Given the description of an element on the screen output the (x, y) to click on. 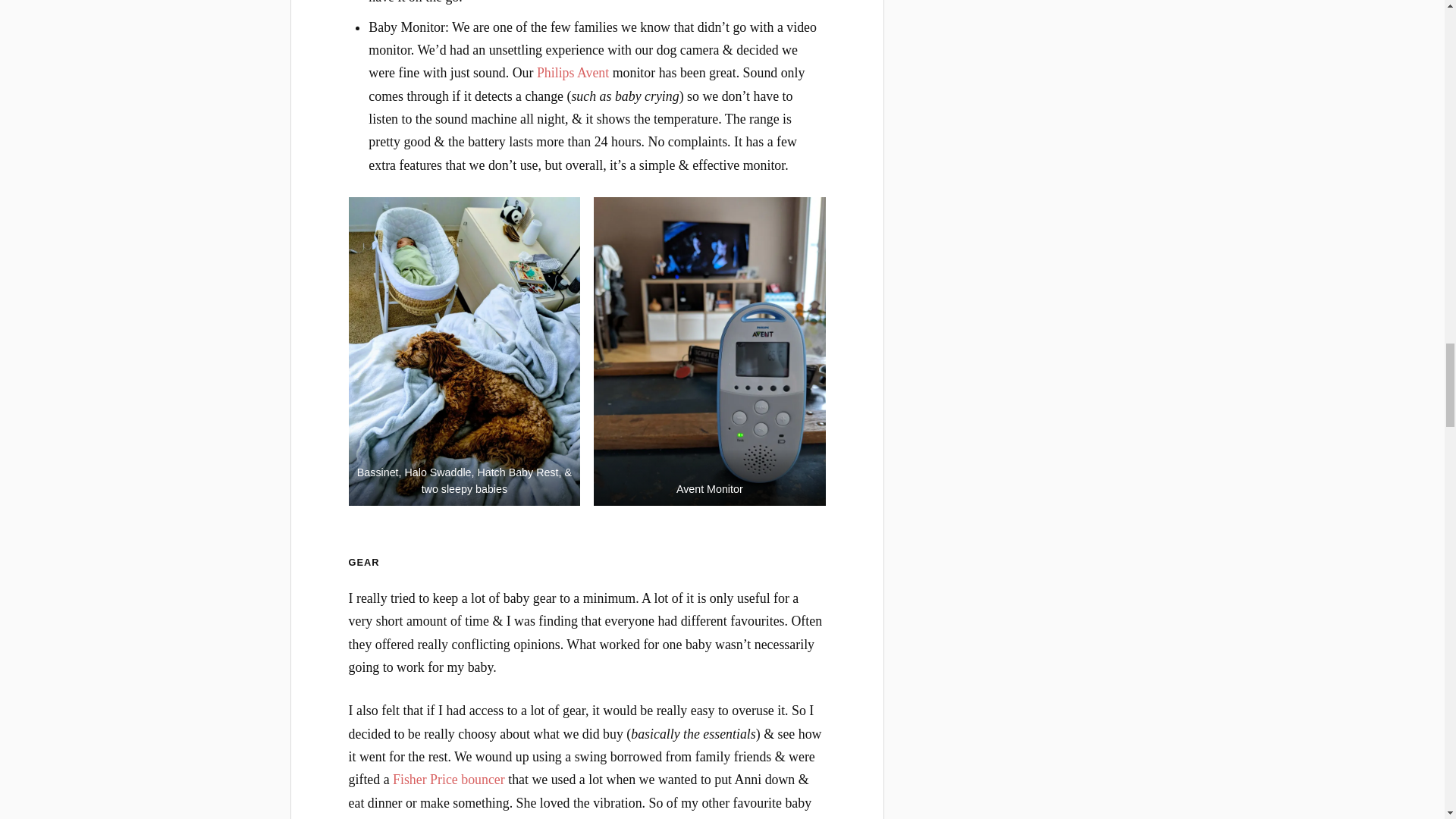
Philips Avent (572, 72)
Fisher Price bouncer (449, 779)
